Given the description of an element on the screen output the (x, y) to click on. 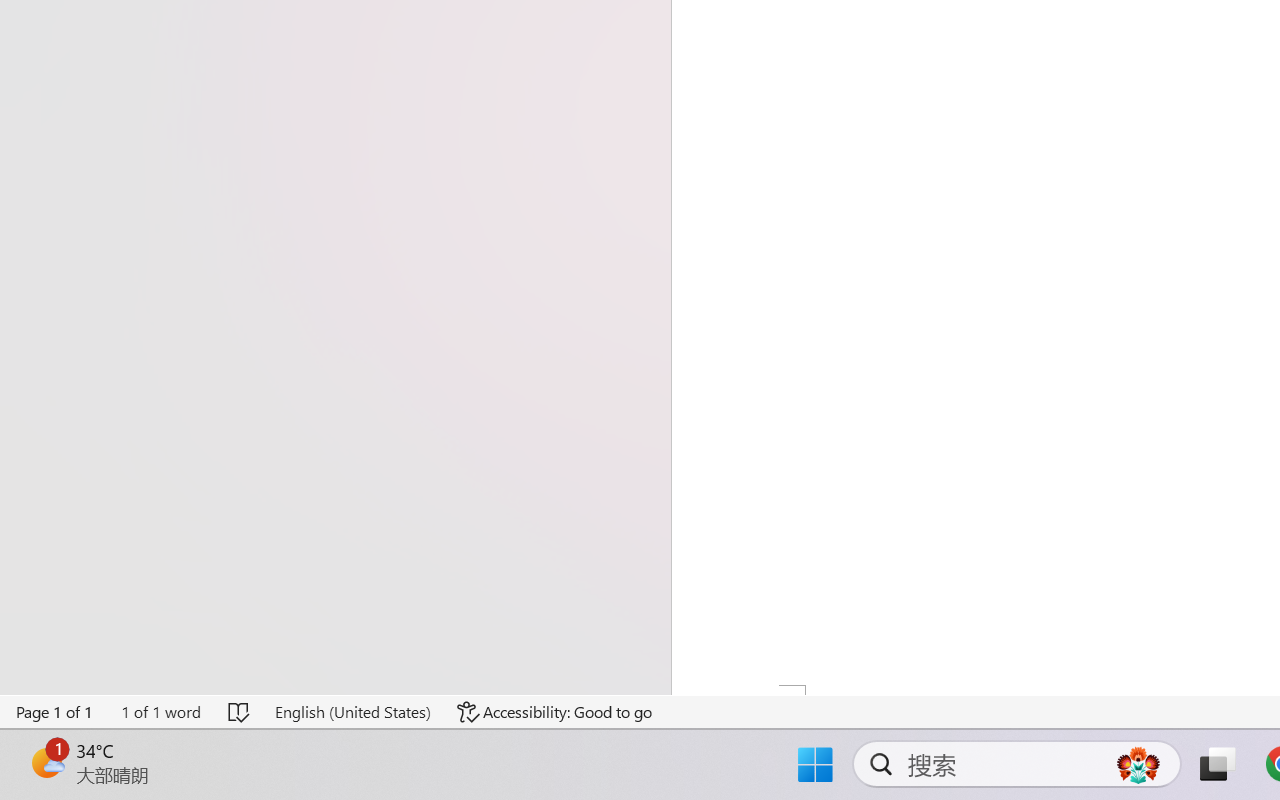
Page Number Page 1 of 1 (55, 712)
